Given the description of an element on the screen output the (x, y) to click on. 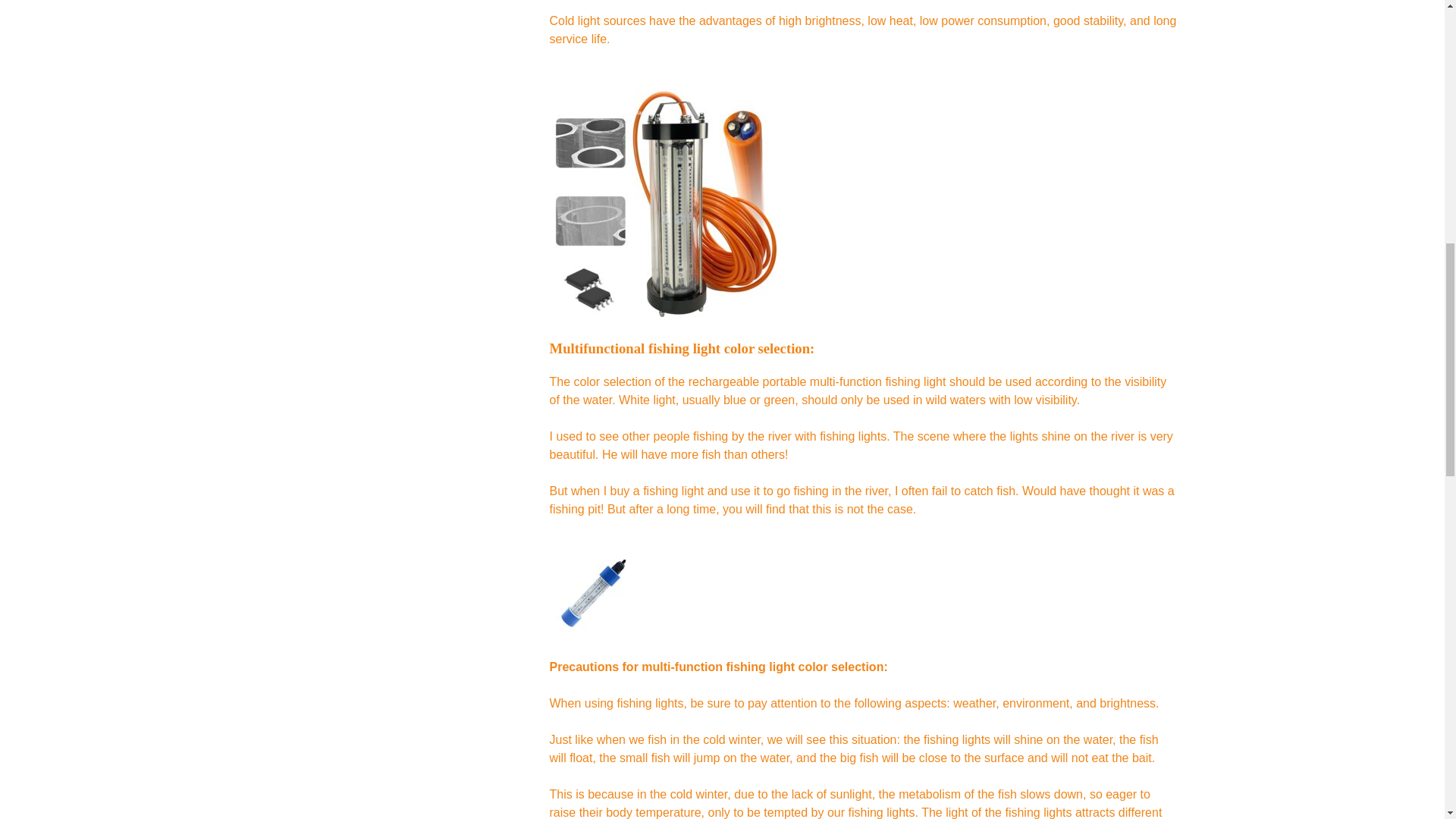
LED fishing light 2000W (662, 202)
